Given the description of an element on the screen output the (x, y) to click on. 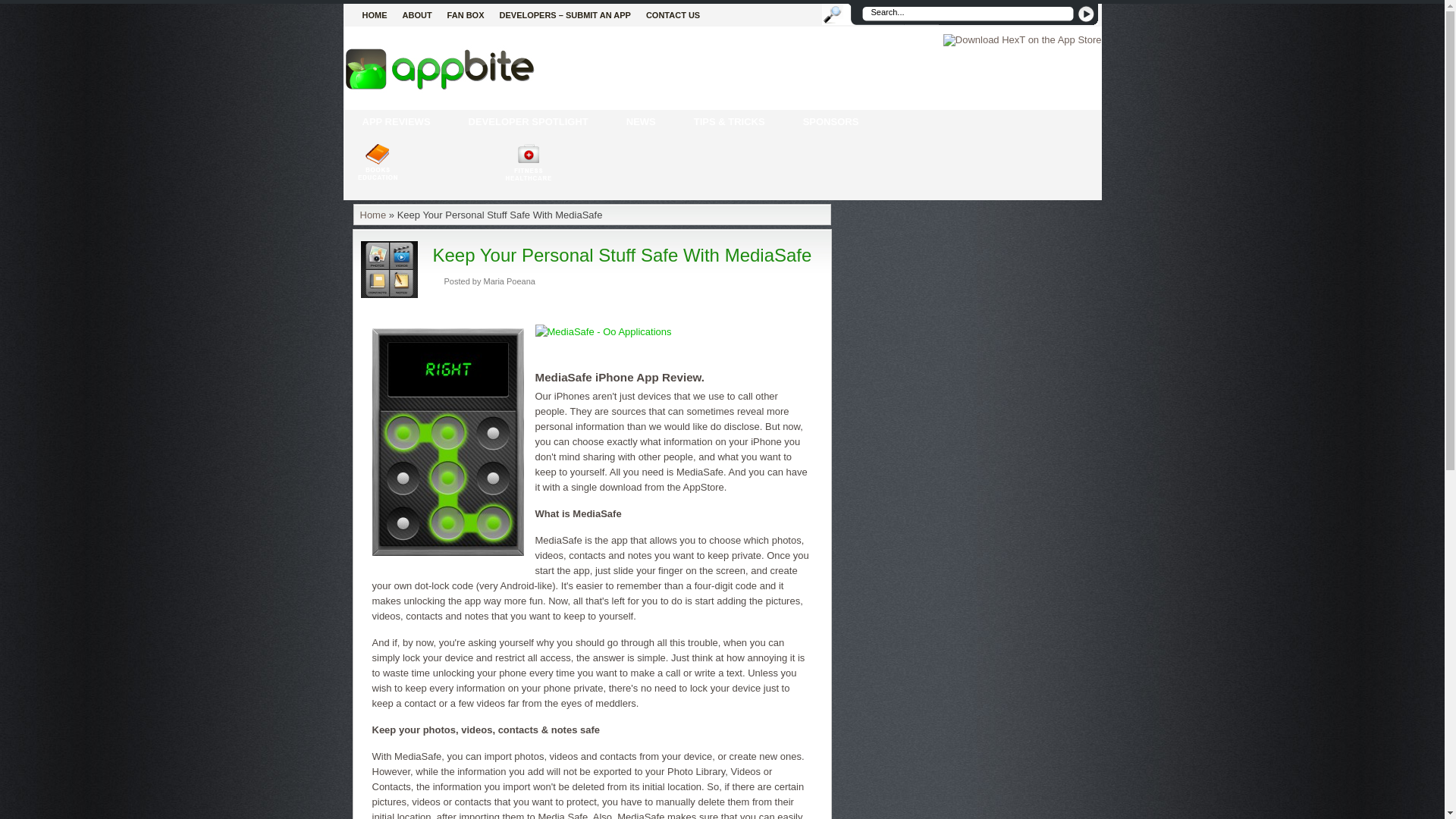
FAN BOX (465, 15)
NEWS (641, 121)
HOME (374, 15)
Fan Box (465, 15)
Keep Your Personal Stuff Safe With MediaSafe (621, 254)
Home (374, 15)
APP REVIEWS (395, 121)
Contact us (673, 15)
Home (372, 214)
iphone (395, 121)
